Given the description of an element on the screen output the (x, y) to click on. 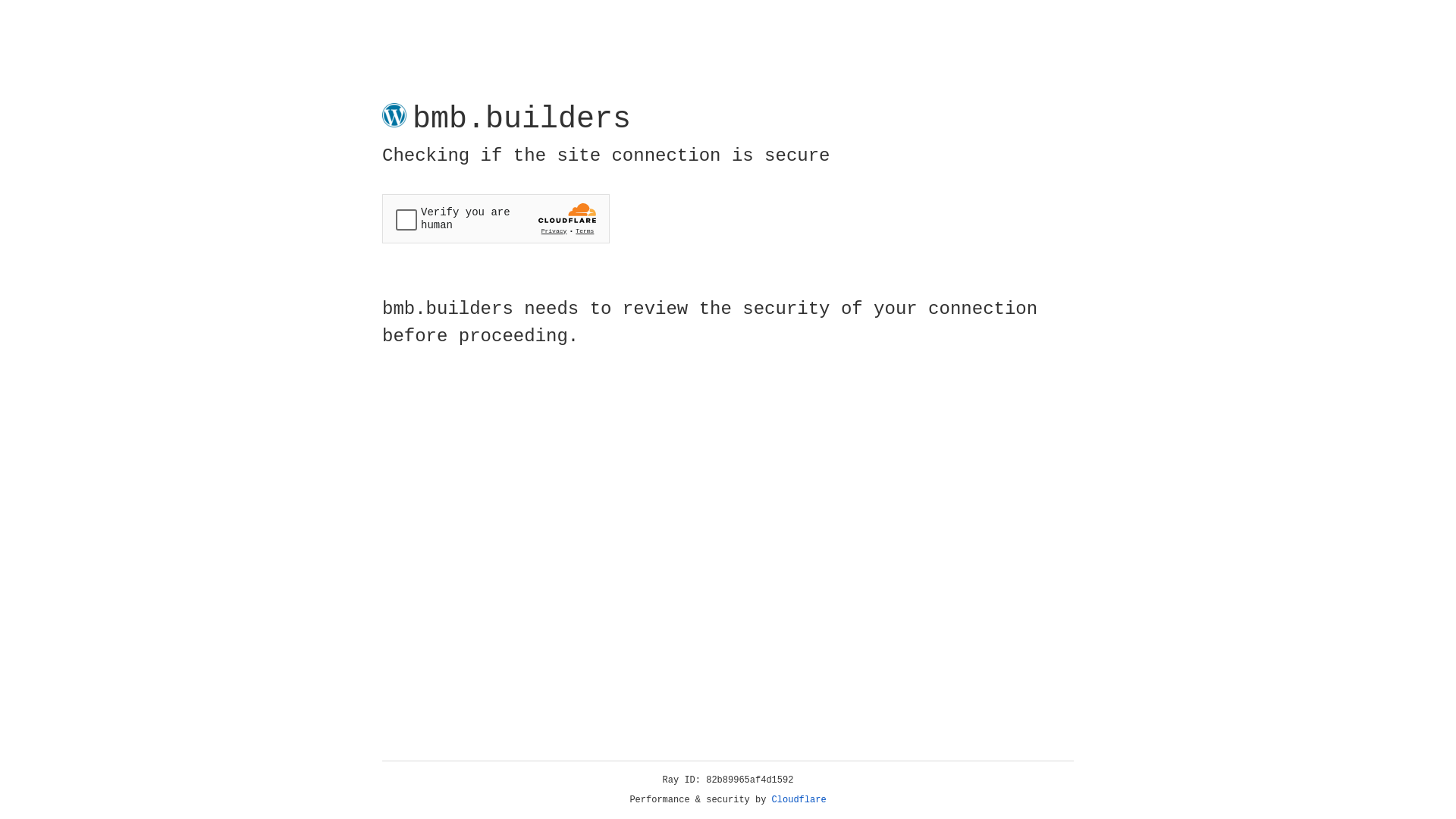
Widget containing a Cloudflare security challenge Element type: hover (495, 218)
Cloudflare Element type: text (798, 799)
